Given the description of an element on the screen output the (x, y) to click on. 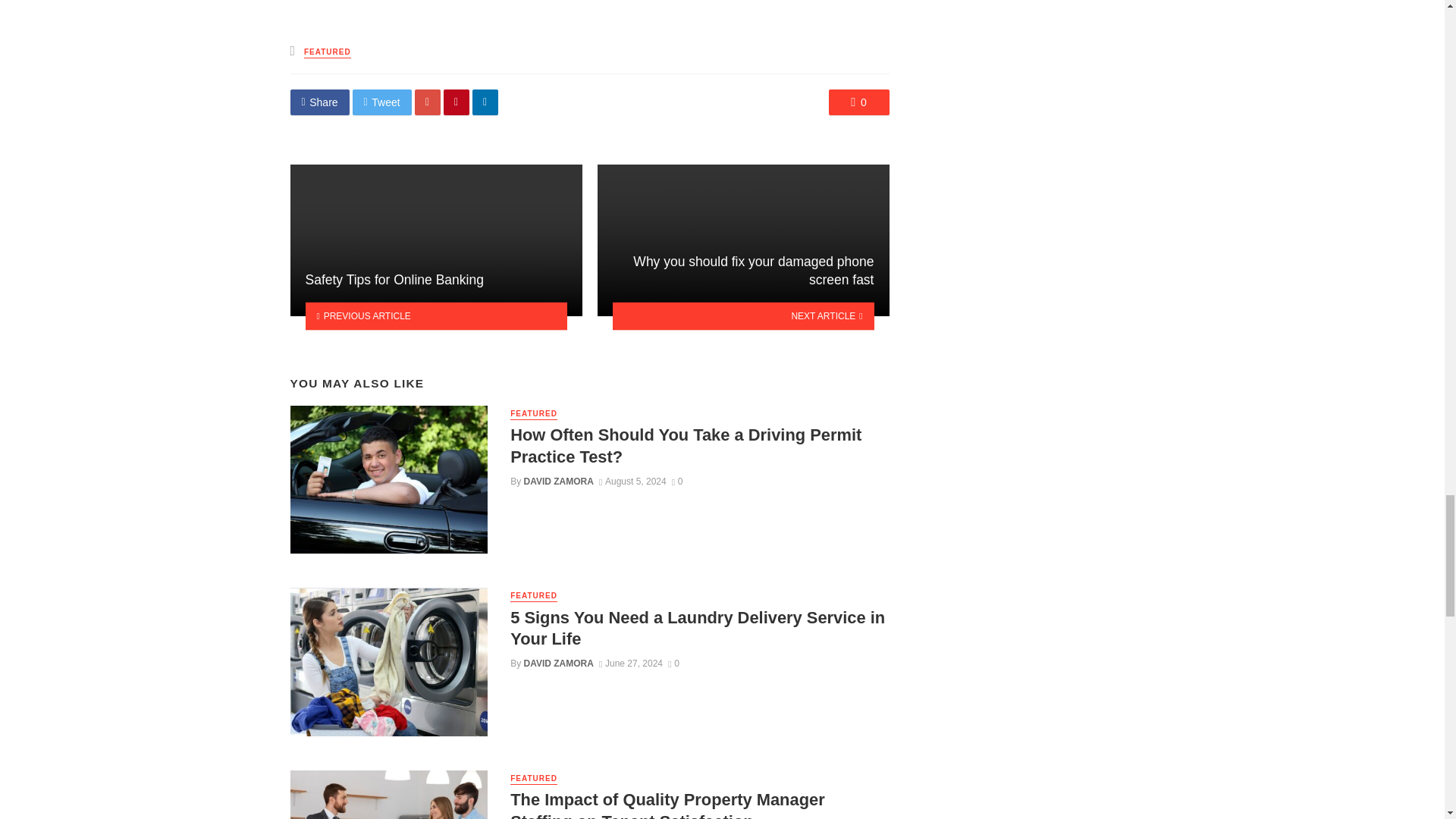
FEATURED (534, 595)
FEATURED (534, 414)
Share on Facebook (319, 102)
NEXT ARTICLE (742, 316)
0 (676, 480)
0 Comments (858, 102)
Share on Linkedin (484, 102)
FEATURED (327, 52)
0 (858, 102)
Share on Pinterest (456, 102)
